Given the description of an element on the screen output the (x, y) to click on. 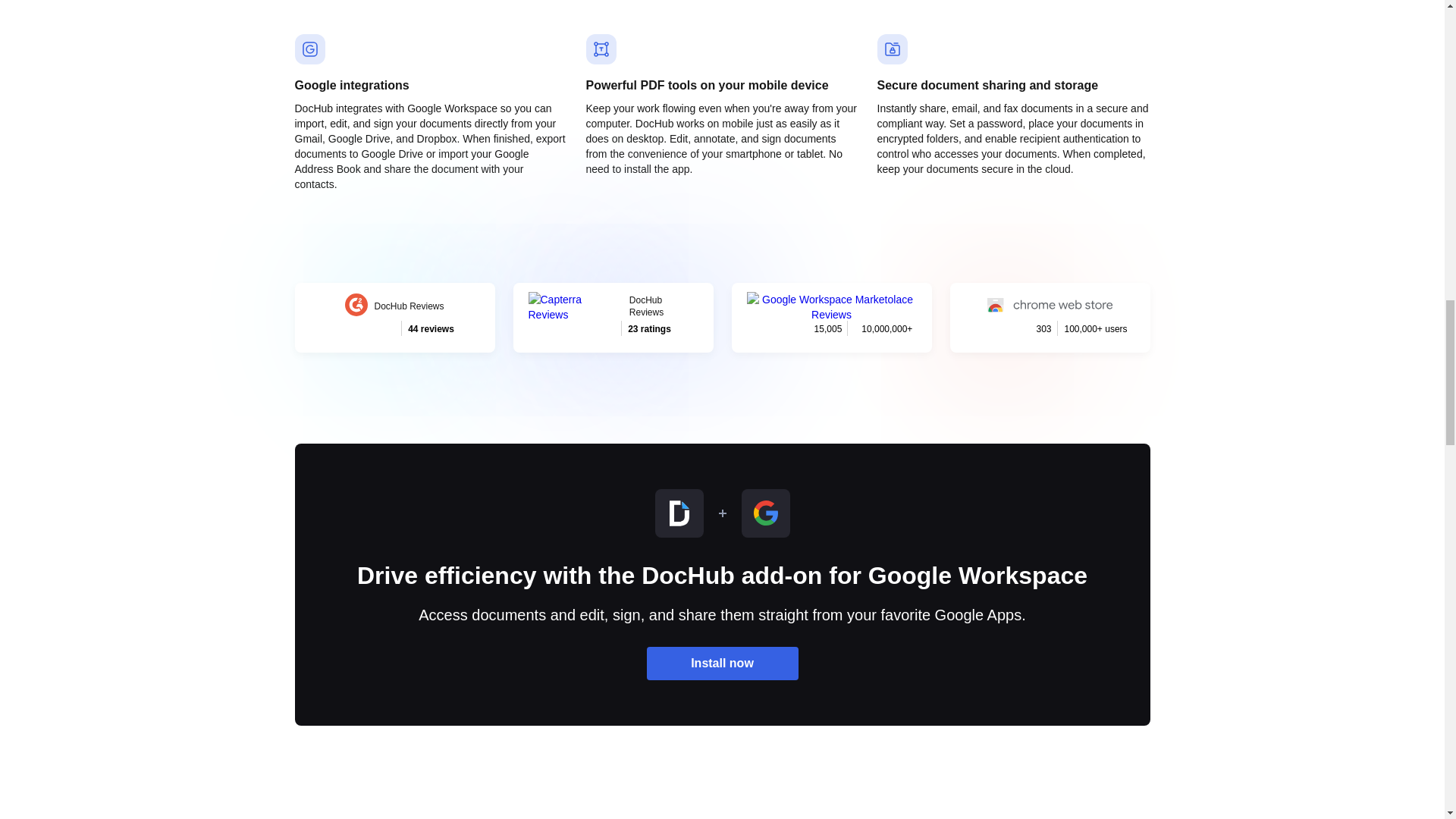
Install now (612, 317)
